Given the description of an element on the screen output the (x, y) to click on. 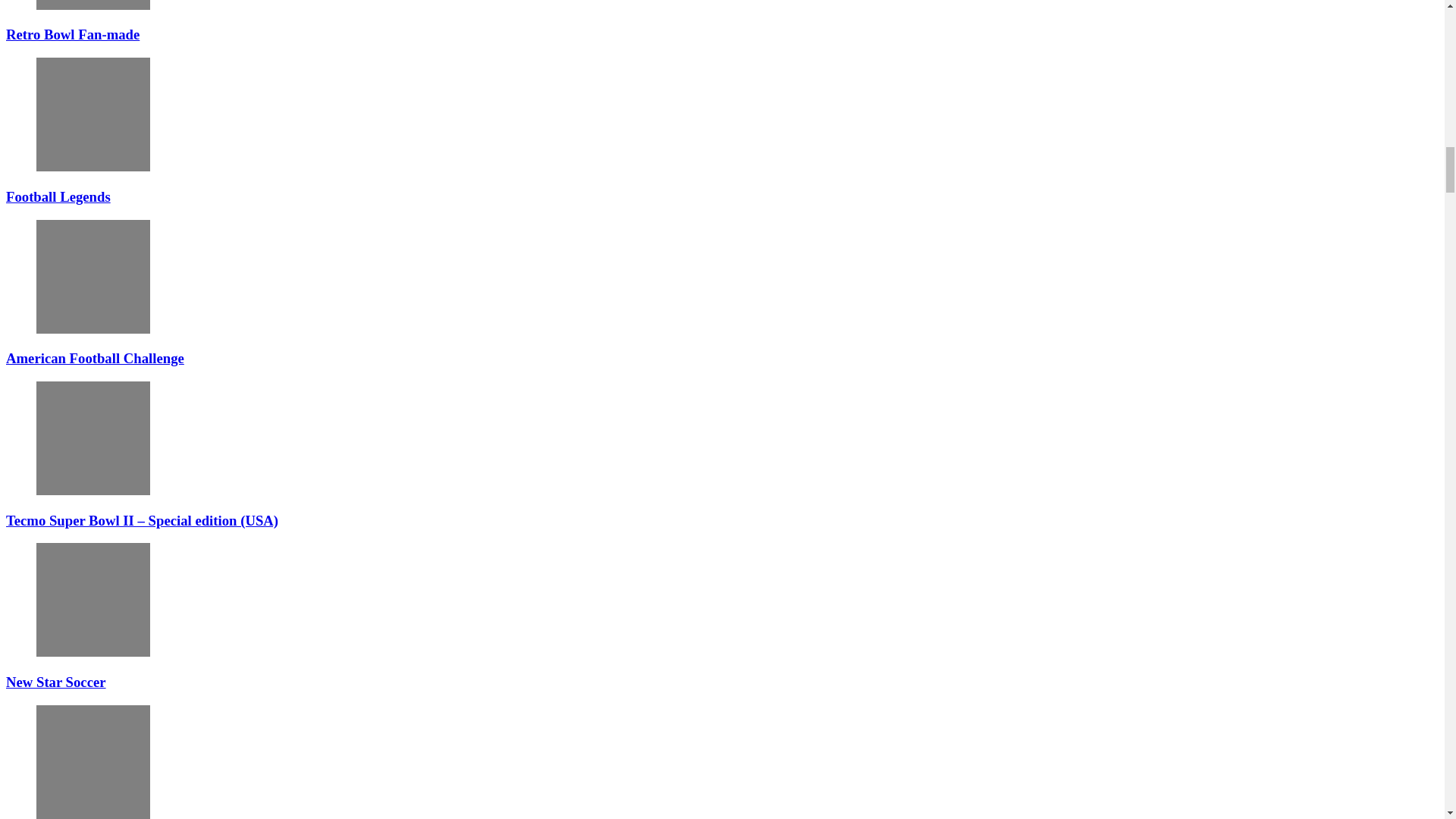
American Football Challenge (92, 276)
New Star Soccer (92, 599)
Football Legends (92, 114)
Retro Bowl Fan-made (72, 34)
Retro Bowl Fan-made (92, 4)
American Football Challenge (94, 358)
Football Legends (57, 196)
Axis Football League (92, 762)
